Given the description of an element on the screen output the (x, y) to click on. 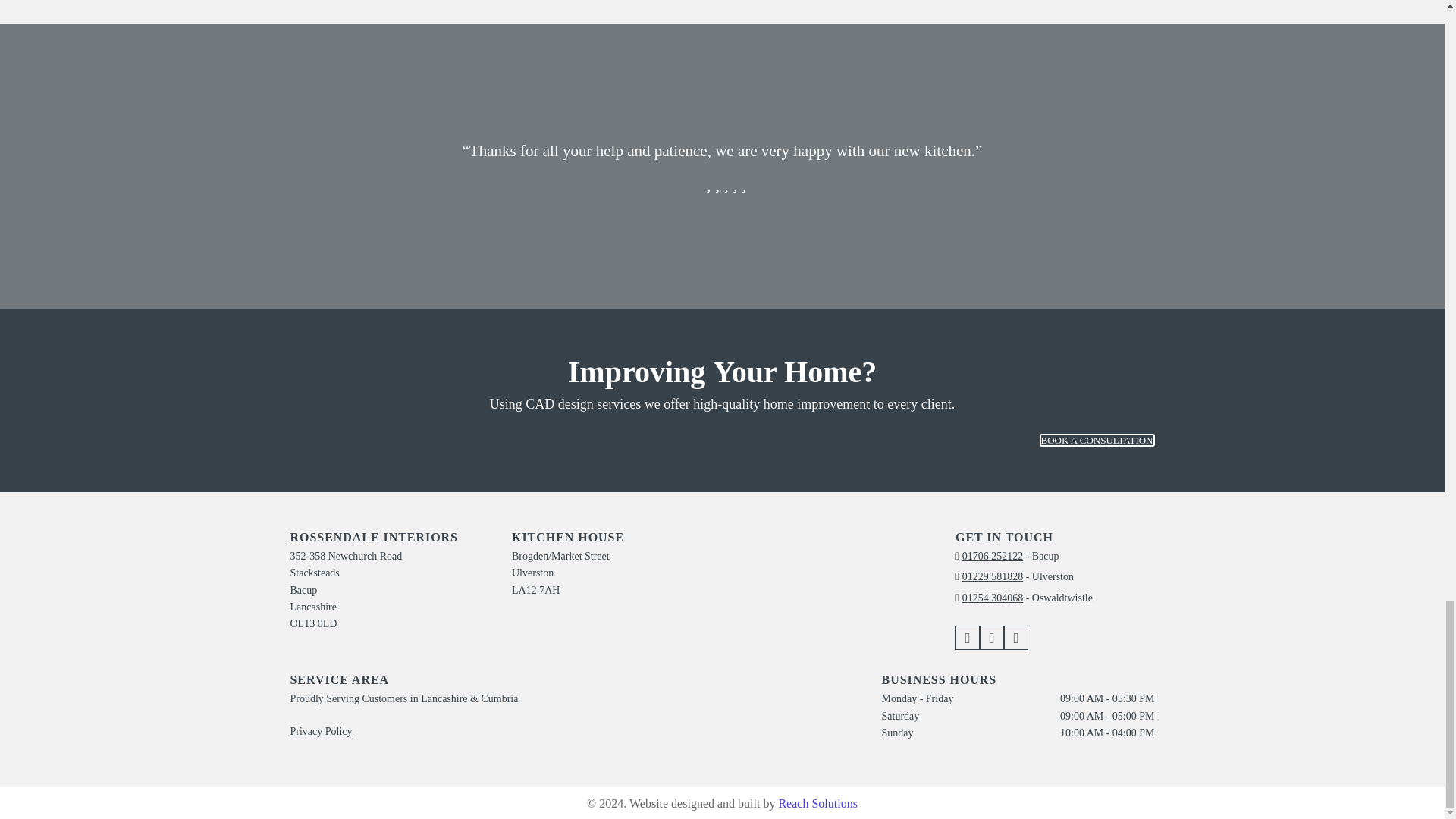
Privacy Policy (320, 731)
Reach Solutions (817, 802)
BOOK A CONSULTATION (1096, 440)
01706 252122 (992, 555)
01229 581828 (992, 576)
01254 304068 (992, 597)
